Given the description of an element on the screen output the (x, y) to click on. 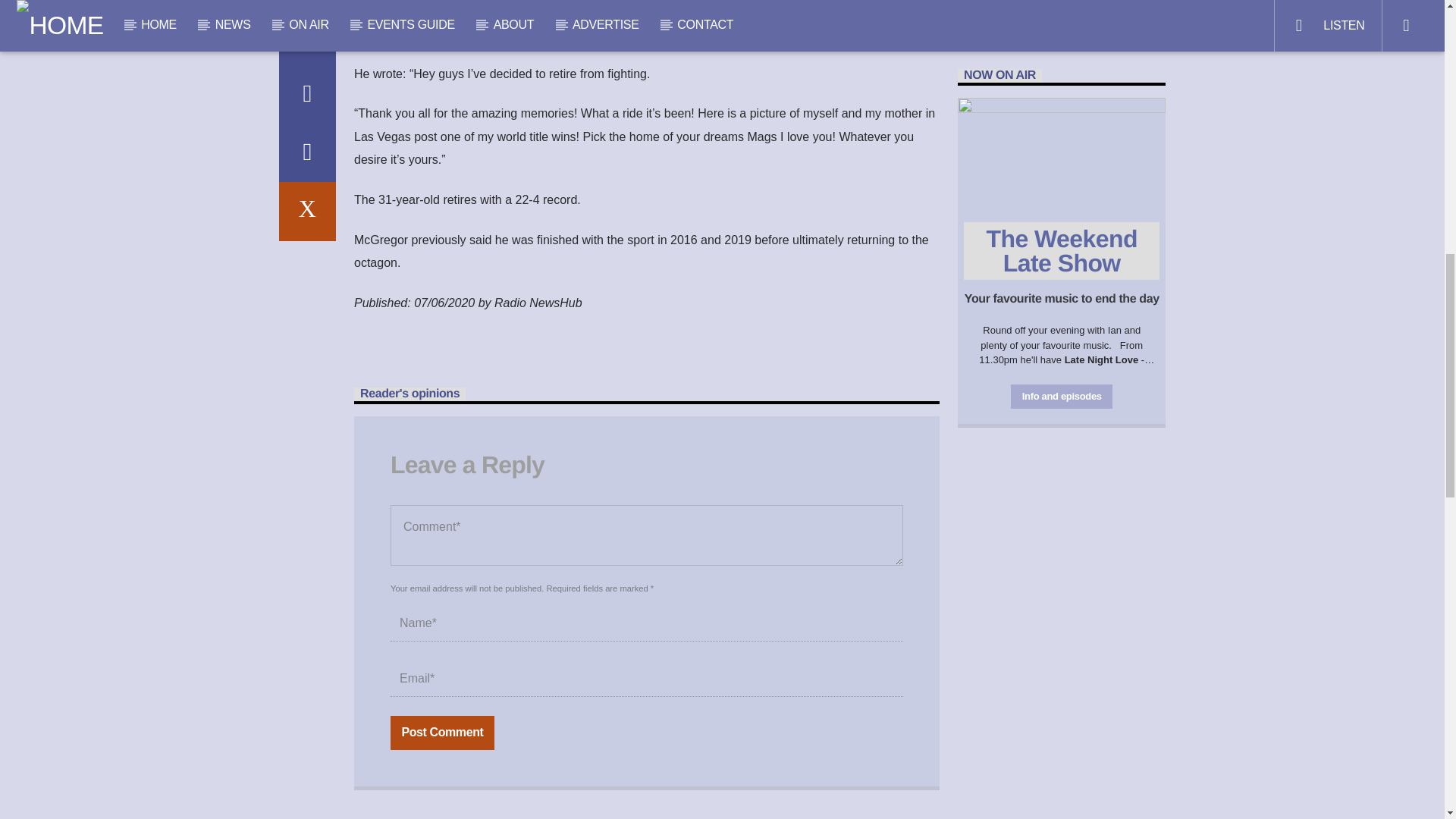
Post Comment (442, 732)
